Given the description of an element on the screen output the (x, y) to click on. 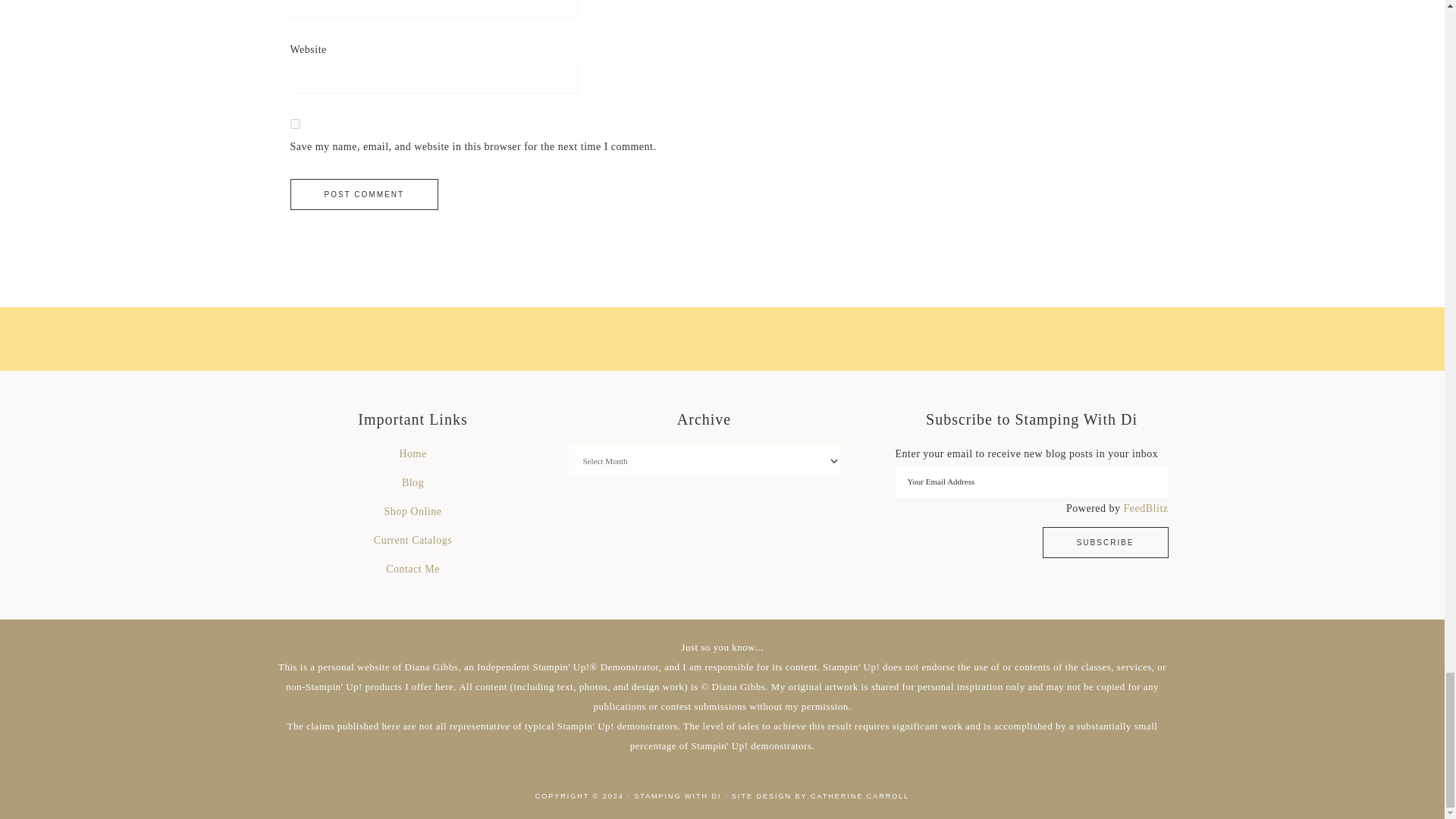
Subscribe (1105, 542)
yes (294, 123)
Post Comment (363, 194)
